Given the description of an element on the screen output the (x, y) to click on. 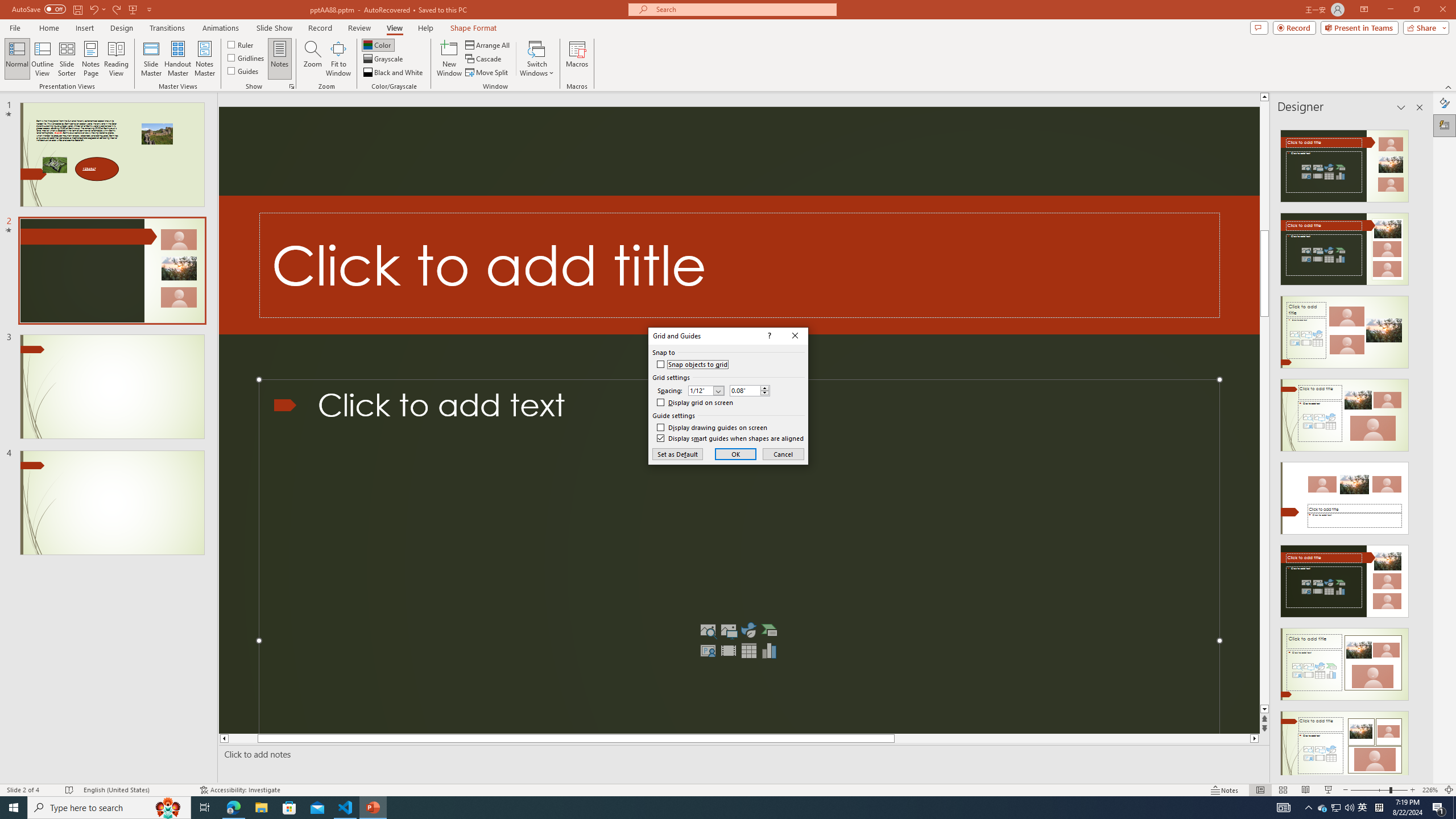
Grayscale (383, 58)
Guides (243, 69)
Shape Format (473, 28)
Recommended Design: Design Idea (1344, 162)
Zoom 226% (1430, 790)
Fit to Window (338, 58)
Context help (768, 335)
